Given the description of an element on the screen output the (x, y) to click on. 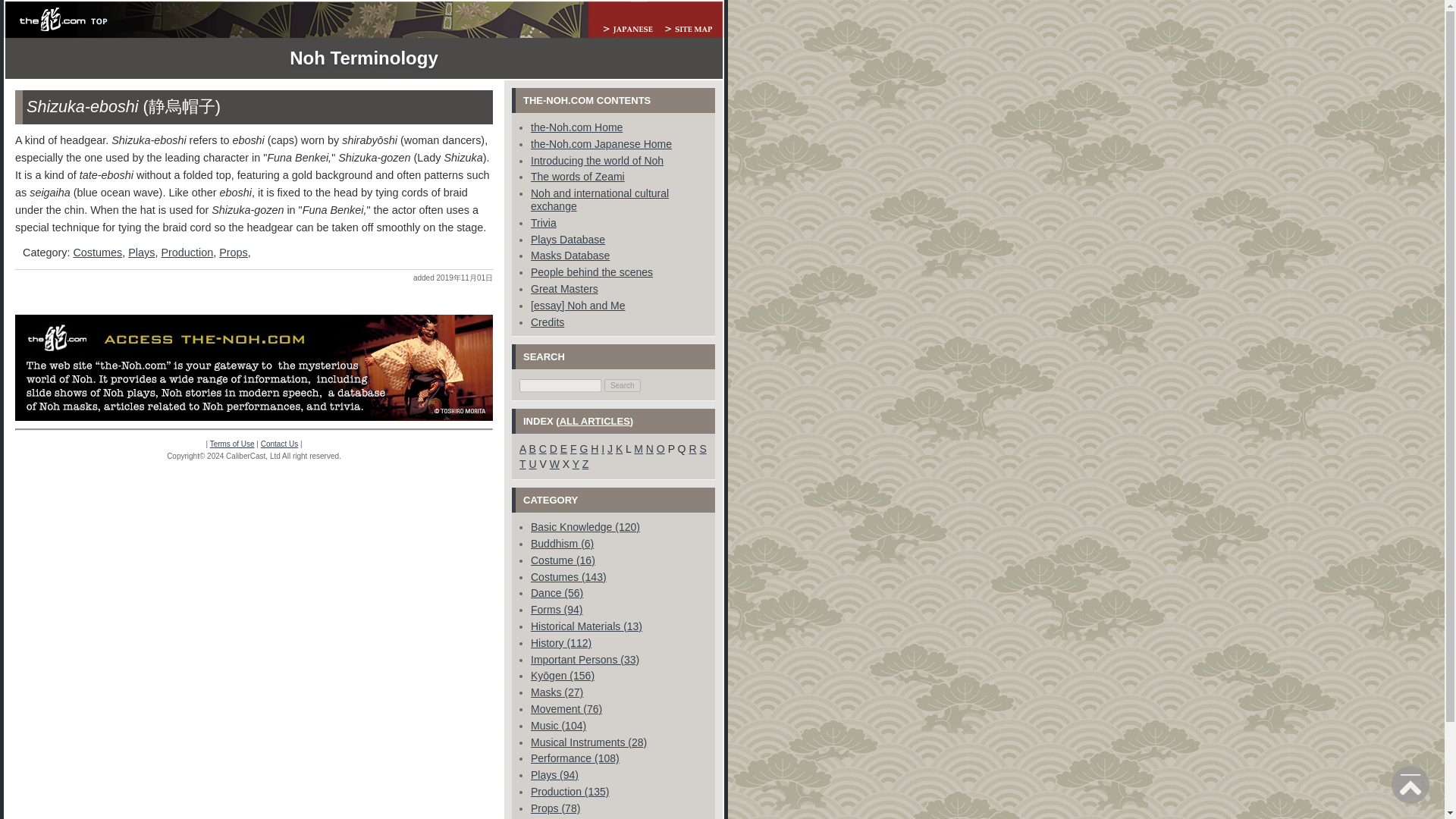
Props (233, 252)
Production (186, 252)
Costumes (97, 252)
Noh and international cultural exchange (599, 199)
The words of Zeami (577, 176)
Search (622, 385)
the-Noh.com Home (577, 127)
Introducing the world of Noh (597, 160)
People behind the scenes (591, 272)
Trivia (543, 223)
